Given the description of an element on the screen output the (x, y) to click on. 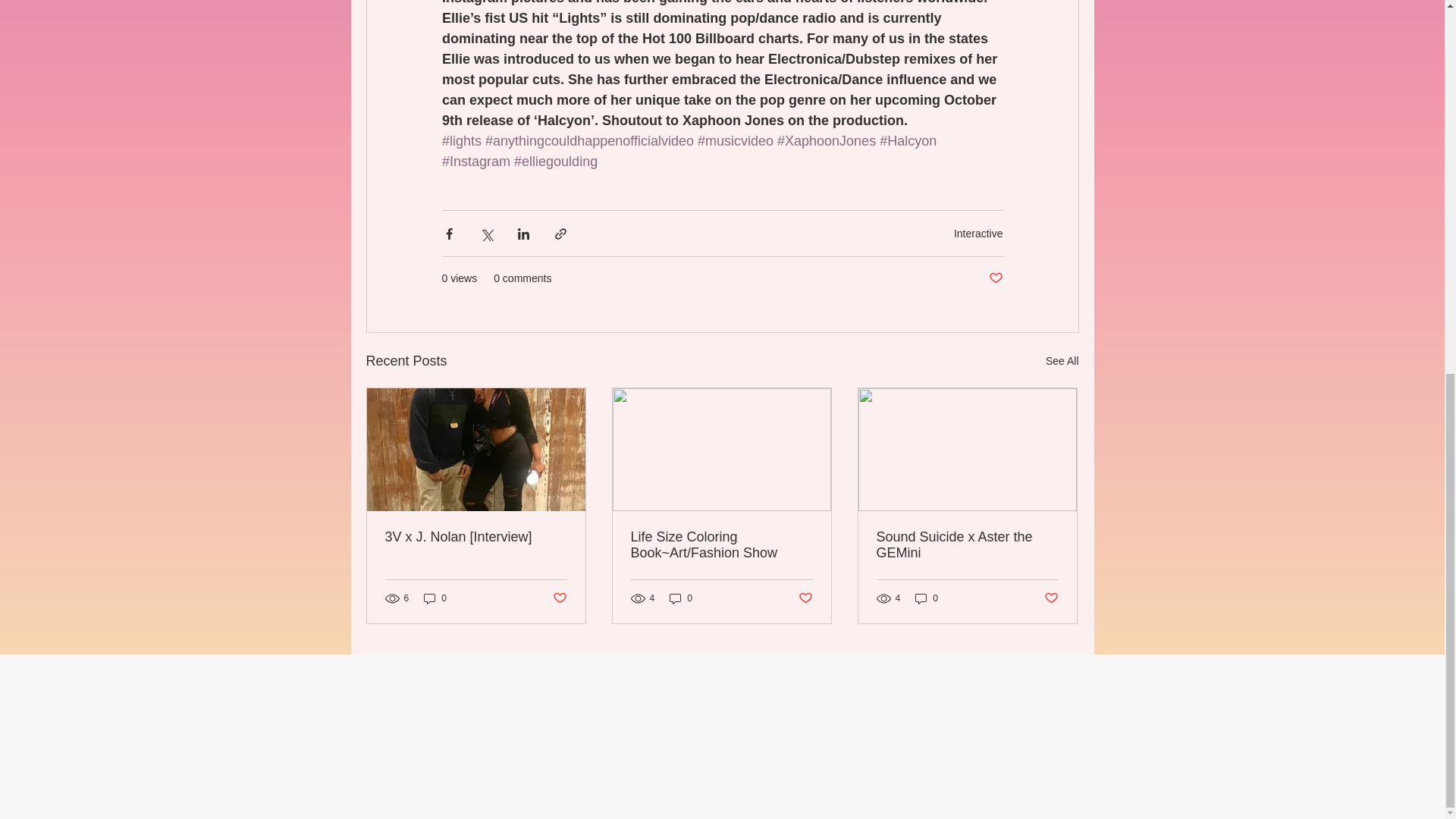
See All (1061, 361)
Interactive (978, 232)
Post not marked as liked (995, 278)
